Given the description of an element on the screen output the (x, y) to click on. 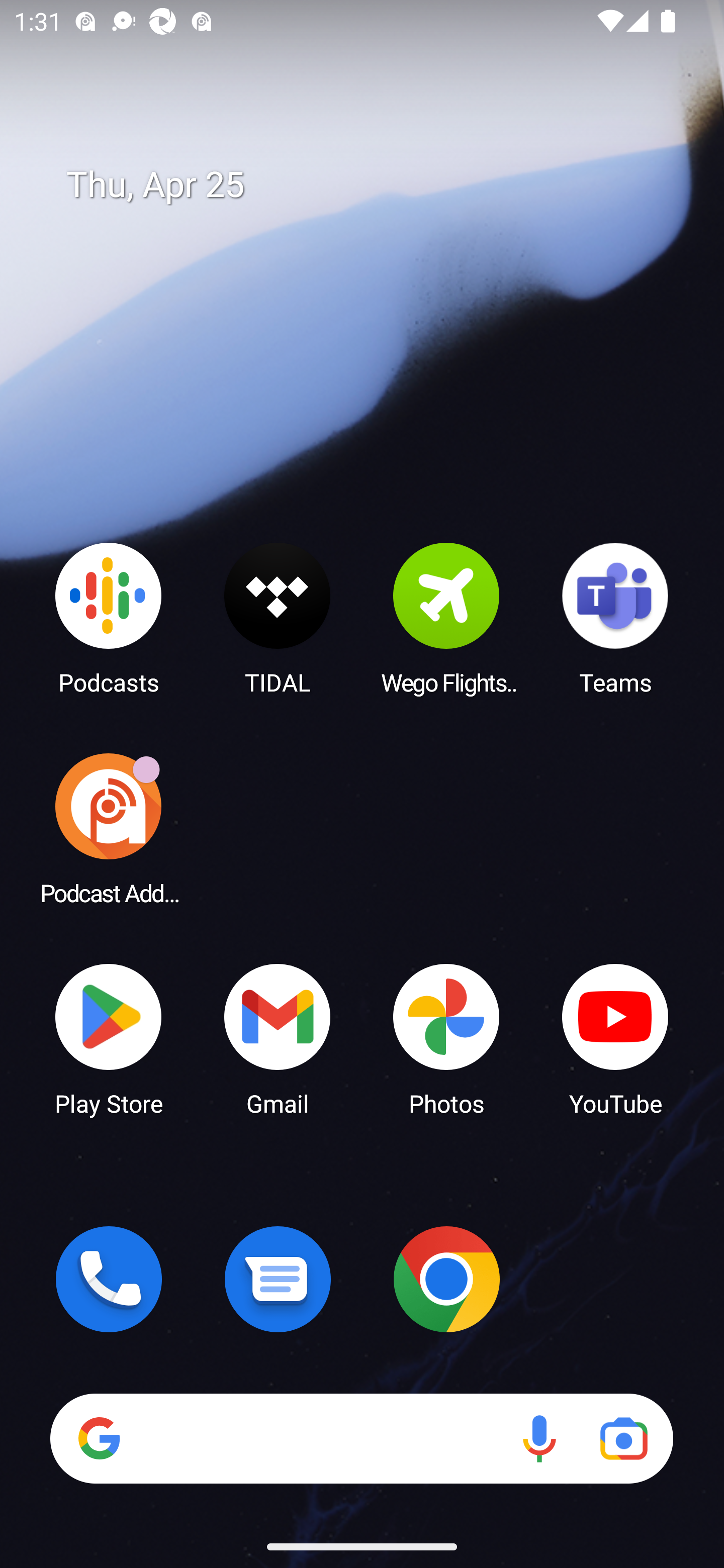
Thu, Apr 25 (375, 184)
Podcasts (108, 617)
TIDAL (277, 617)
Wego Flights & Hotels (445, 617)
Teams (615, 617)
Play Store (108, 1038)
Gmail (277, 1038)
Photos (445, 1038)
YouTube (615, 1038)
Phone (108, 1279)
Messages (277, 1279)
Chrome (446, 1279)
Search Voice search Google Lens (361, 1438)
Voice search (539, 1438)
Google Lens (623, 1438)
